Given the description of an element on the screen output the (x, y) to click on. 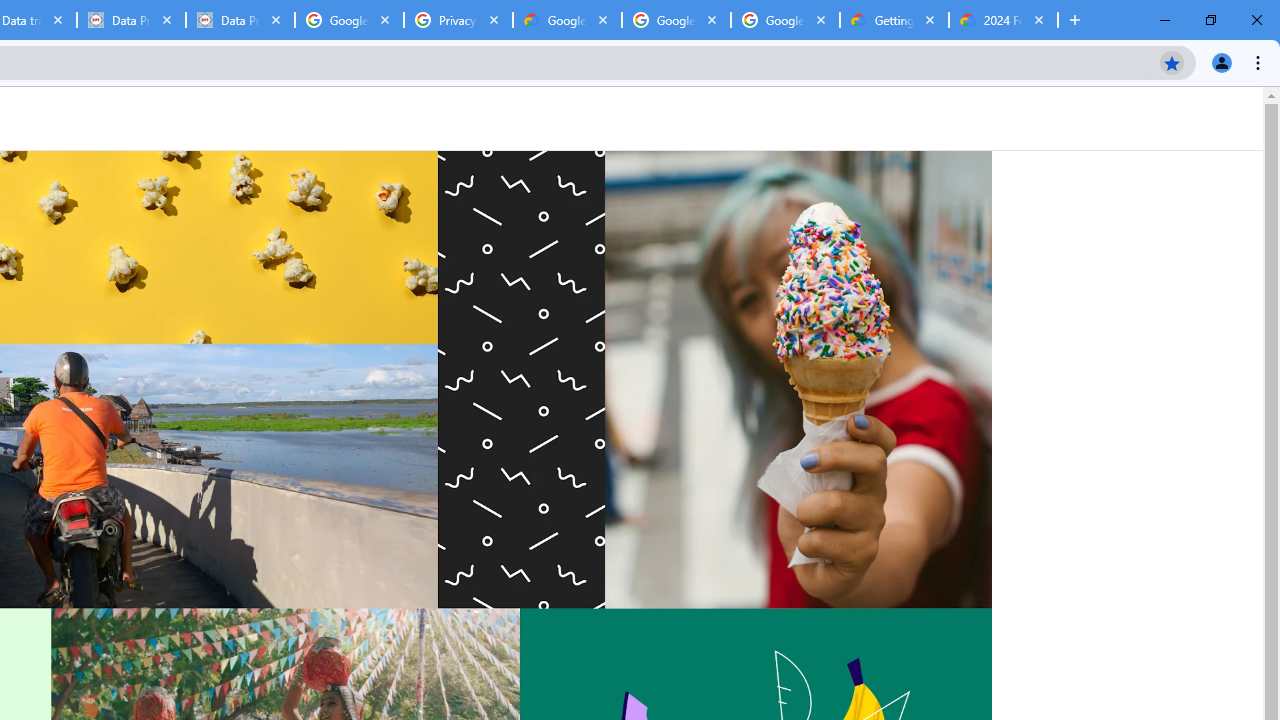
Google Workspace - Specific Terms (784, 20)
Data Privacy Framework (240, 20)
Google Cloud Terms Directory | Google Cloud (567, 20)
Google Workspace - Specific Terms (676, 20)
Data Privacy Framework (130, 20)
